Given the description of an element on the screen output the (x, y) to click on. 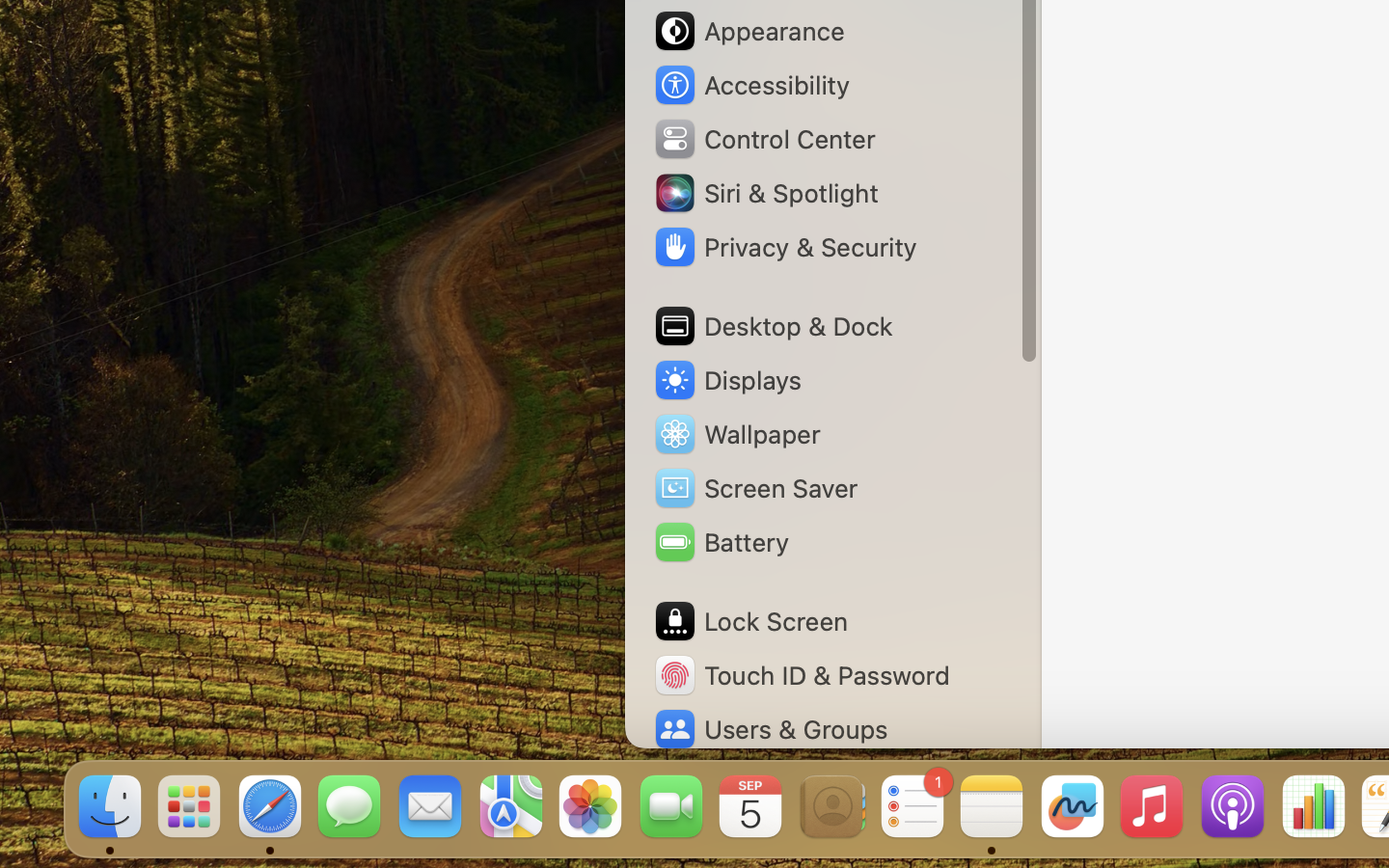
Displays Element type: AXStaticText (727, 379)
Accessibility Element type: AXStaticText (751, 84)
Screen Saver Element type: AXStaticText (755, 487)
